Given the description of an element on the screen output the (x, y) to click on. 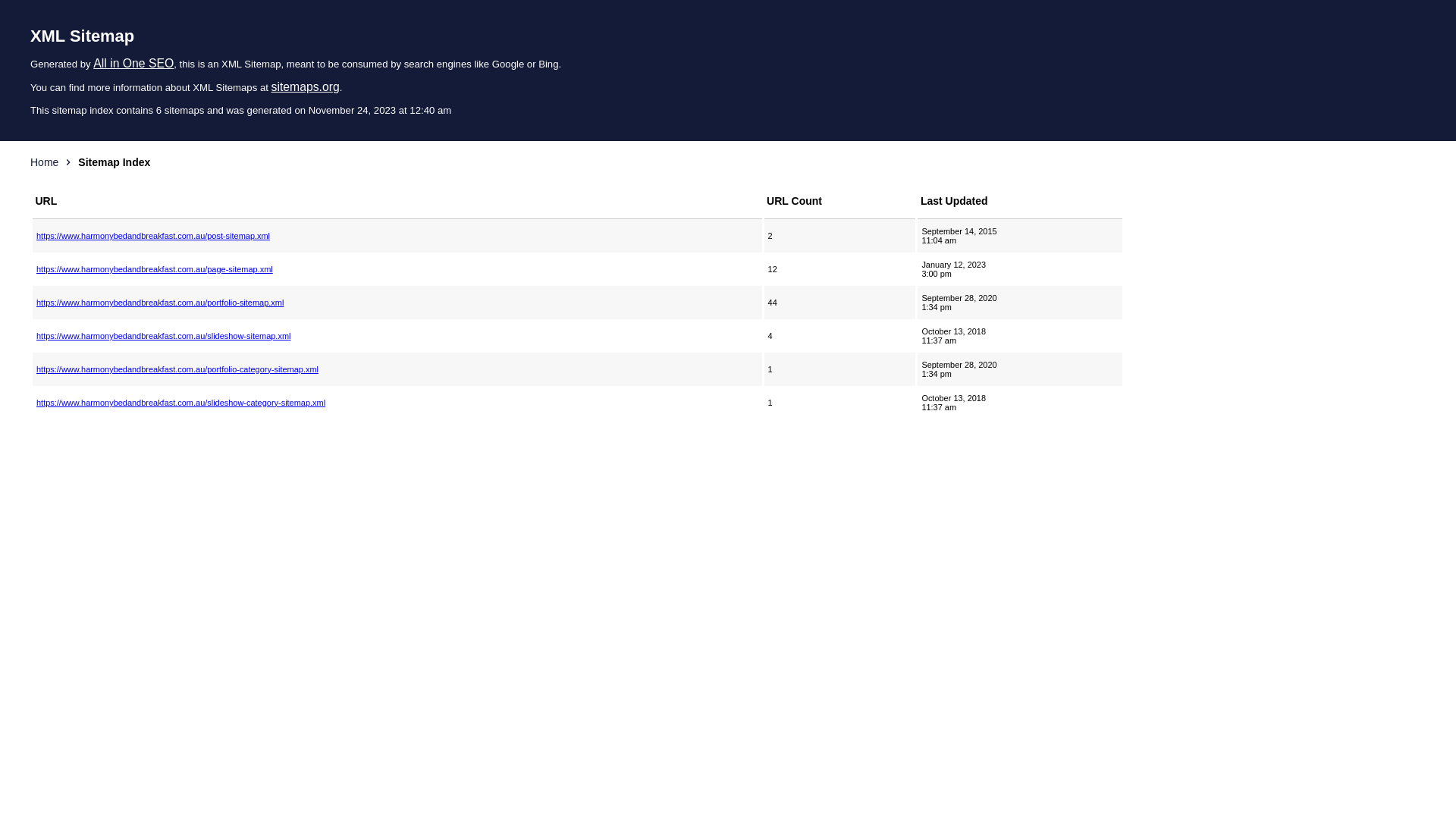
sitemaps.org Element type: text (305, 86)
https://www.harmonybedandbreakfast.com.au/post-sitemap.xml Element type: text (397, 235)
https://www.harmonybedandbreakfast.com.au/page-sitemap.xml Element type: text (397, 268)
Home Element type: text (44, 162)
All in One SEO Element type: text (133, 62)
